Given the description of an element on the screen output the (x, y) to click on. 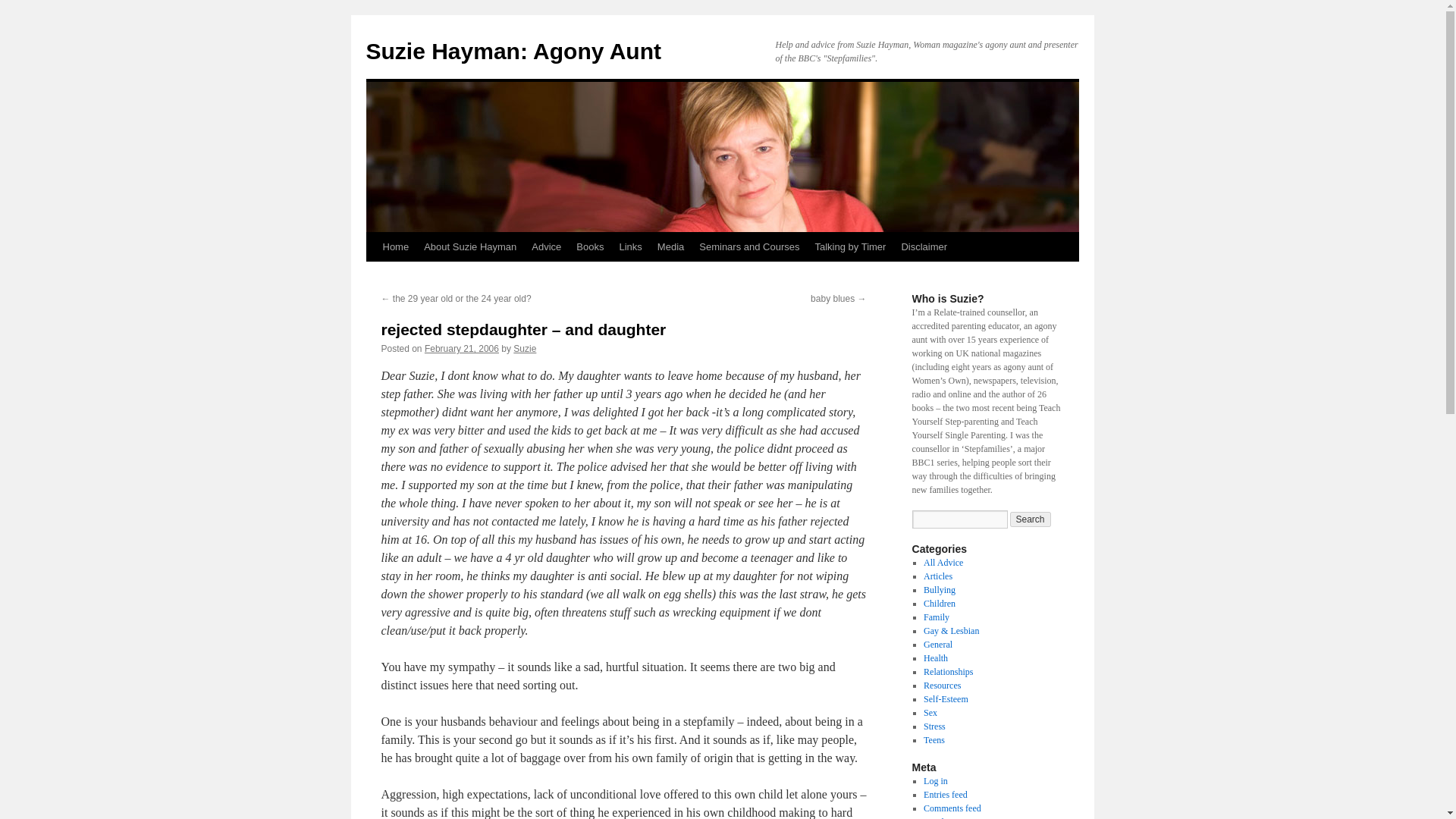
Children (939, 603)
Media (670, 246)
General posts. (937, 644)
Search (1030, 519)
Family (936, 616)
Teens (933, 739)
Log in (935, 780)
Sex (930, 712)
About Suzie Hayman (470, 246)
February 21, 2006 (462, 348)
Stress (933, 726)
Disclaimer (924, 246)
Bullying (939, 589)
Entries feed (945, 794)
Resources (941, 685)
